Given the description of an element on the screen output the (x, y) to click on. 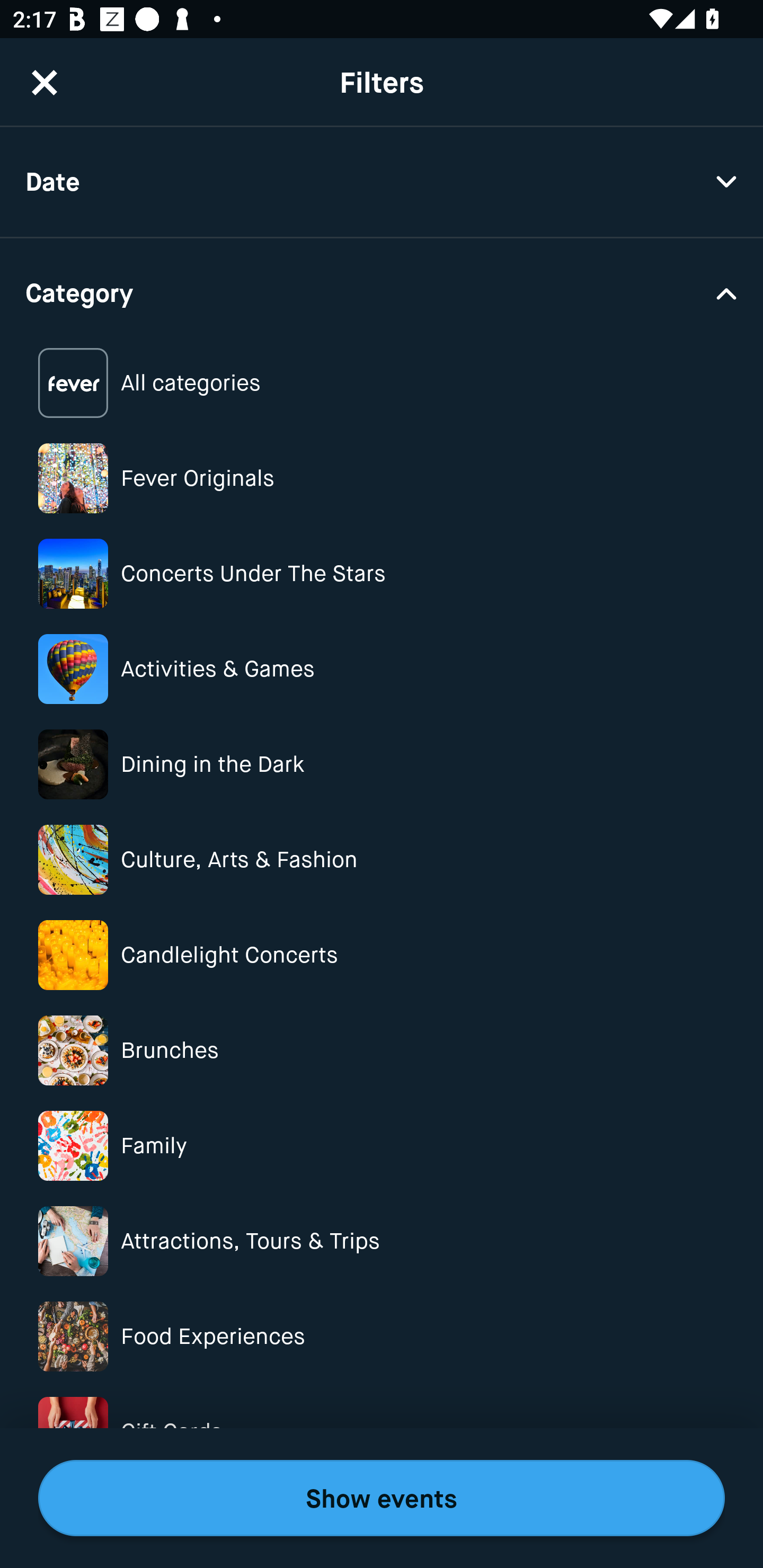
CloseButton (44, 82)
Date Drop Down Arrow (381, 182)
Category Drop Down Arrow (381, 291)
Category Image All categories (381, 382)
Category Image Fever Originals (381, 477)
Category Image Concerts Under The Stars (381, 573)
Category Image Activities & Games (381, 668)
Category Image Dining in the Dark (381, 763)
Category Image Culture, Arts & Fashion (381, 859)
Category Image Candlelight Concerts (381, 954)
Category Image Brunches (381, 1050)
Category Image Family (381, 1145)
Category Image Attractions, Tours & Trips (381, 1240)
Category Image Food Experiences (381, 1336)
Show events (381, 1497)
